Given the description of an element on the screen output the (x, y) to click on. 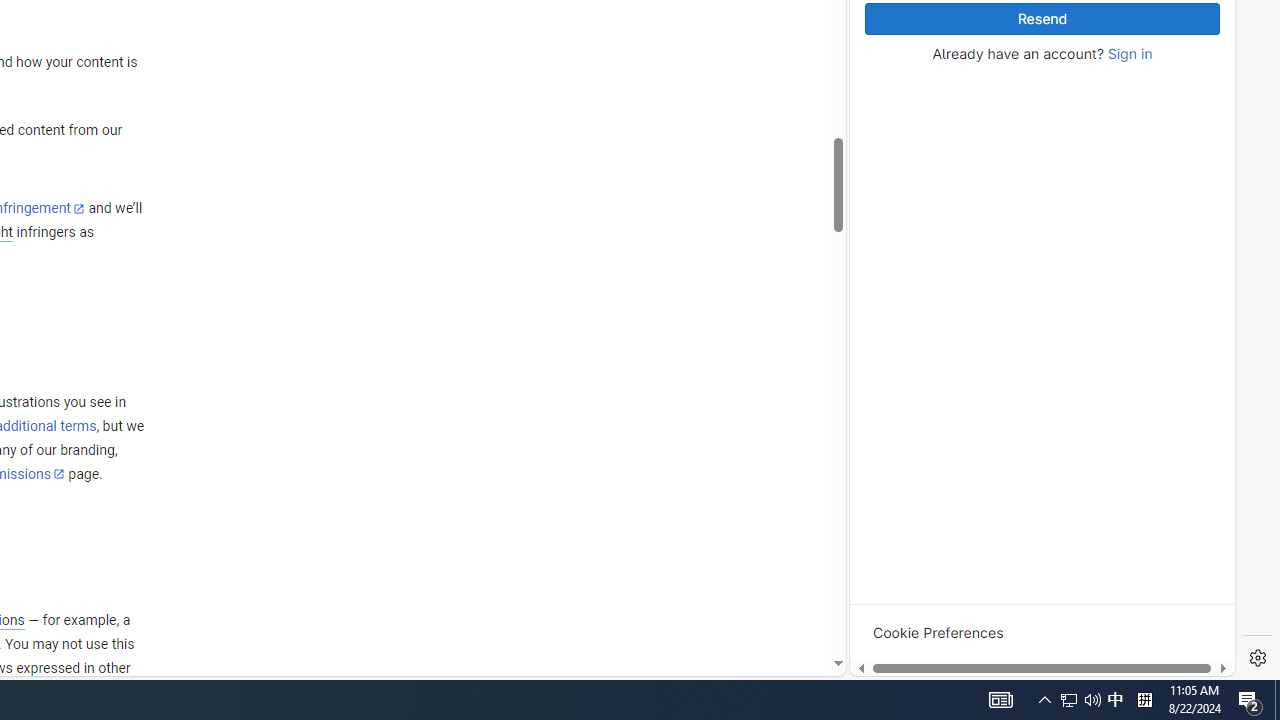
Cookie Preferences (938, 632)
View details (1145, 256)
Global web icon (888, 403)
Sign in (1130, 53)
GitLab (966, 678)
Resend (1042, 19)
View details (1145, 255)
Settings (1258, 658)
